Given the description of an element on the screen output the (x, y) to click on. 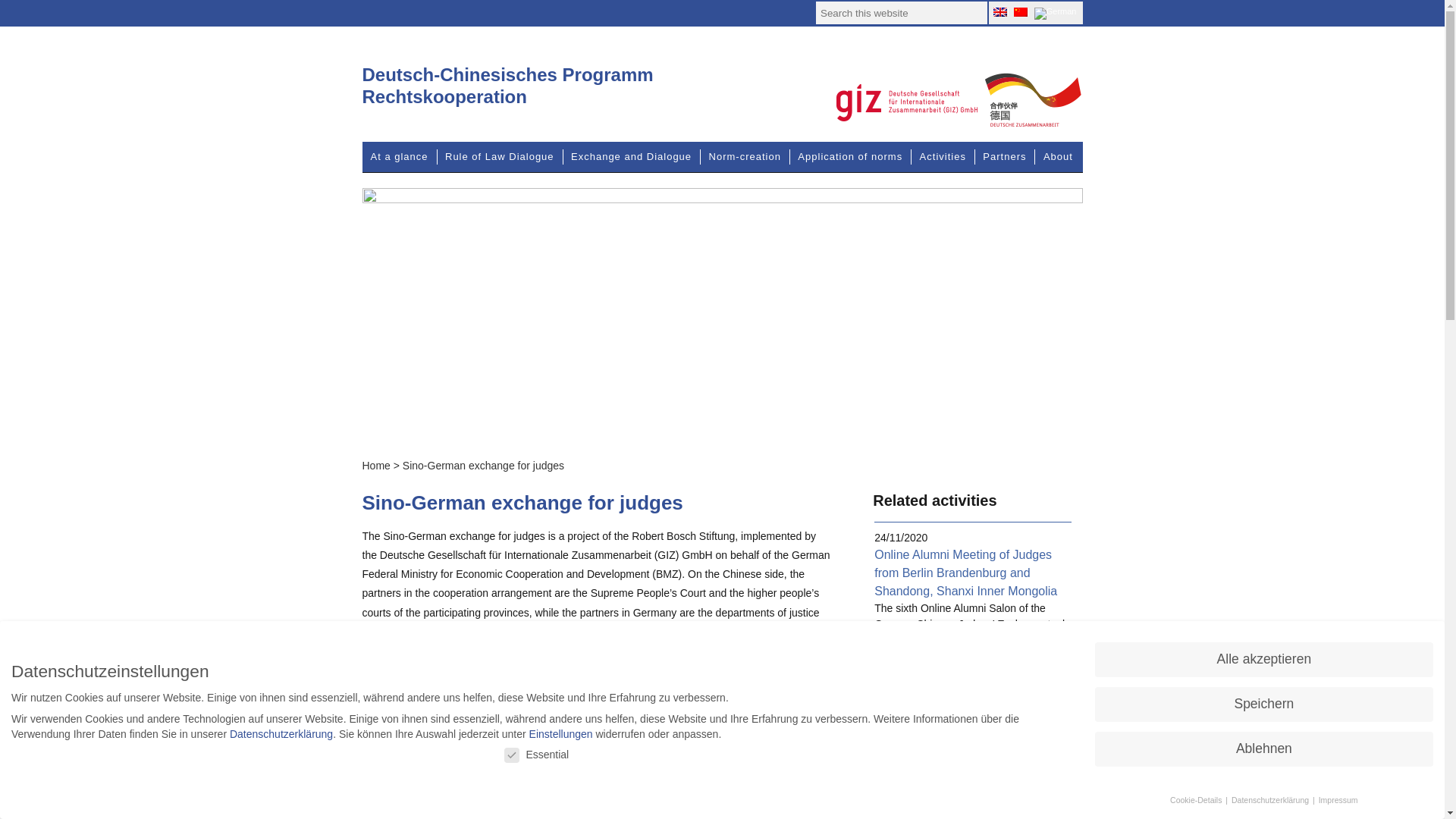
Activities (943, 156)
Partners (1004, 156)
Exchange and Dialogue (631, 156)
Search (973, 12)
Search (973, 12)
Norm-creation (745, 156)
At a glance (400, 156)
About (1058, 156)
Search (973, 12)
Application of norms (850, 156)
